Given the description of an element on the screen output the (x, y) to click on. 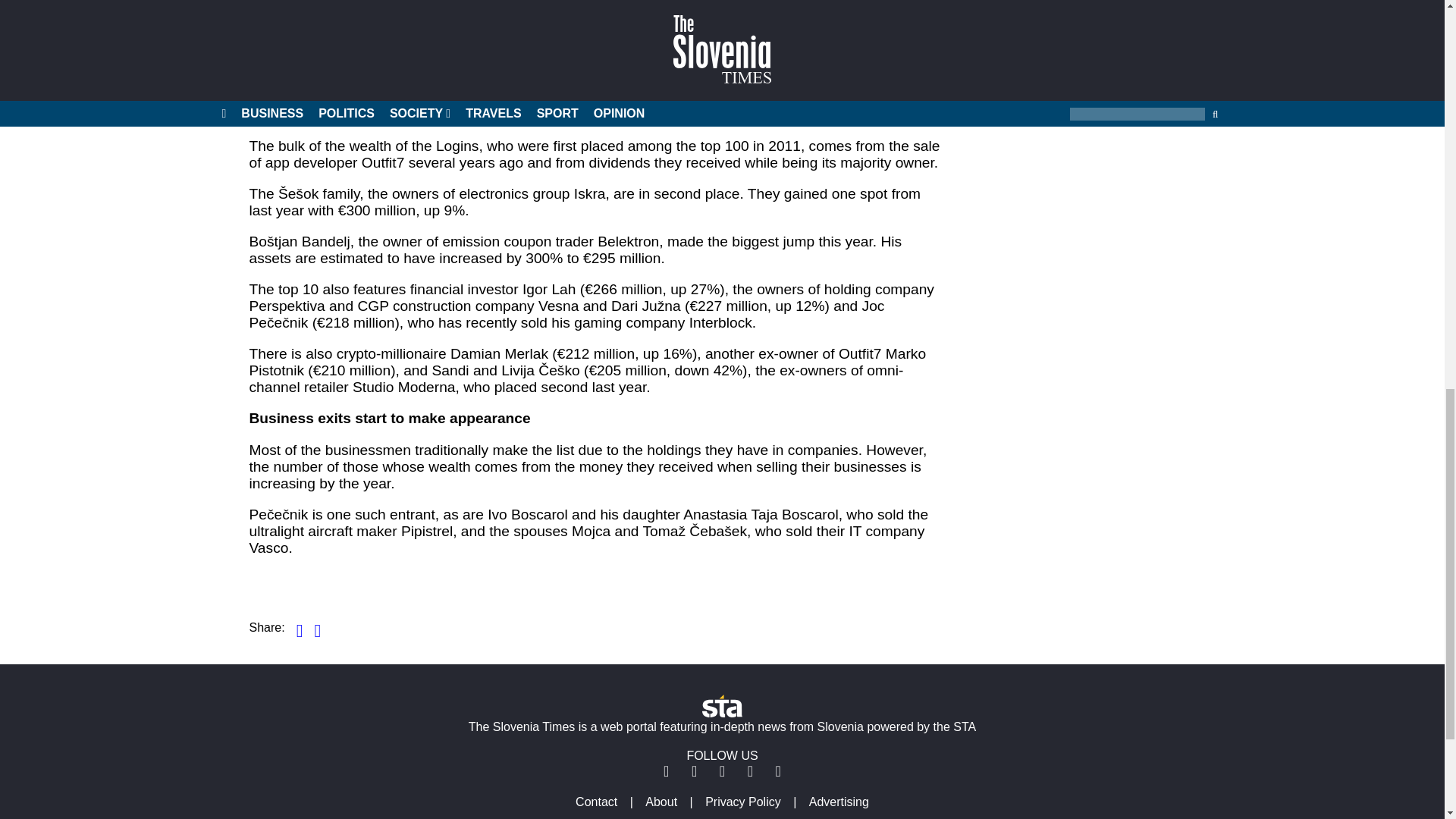
Privacy Policy (742, 801)
Contact (596, 801)
About (660, 801)
Advertising (838, 801)
